Given the description of an element on the screen output the (x, y) to click on. 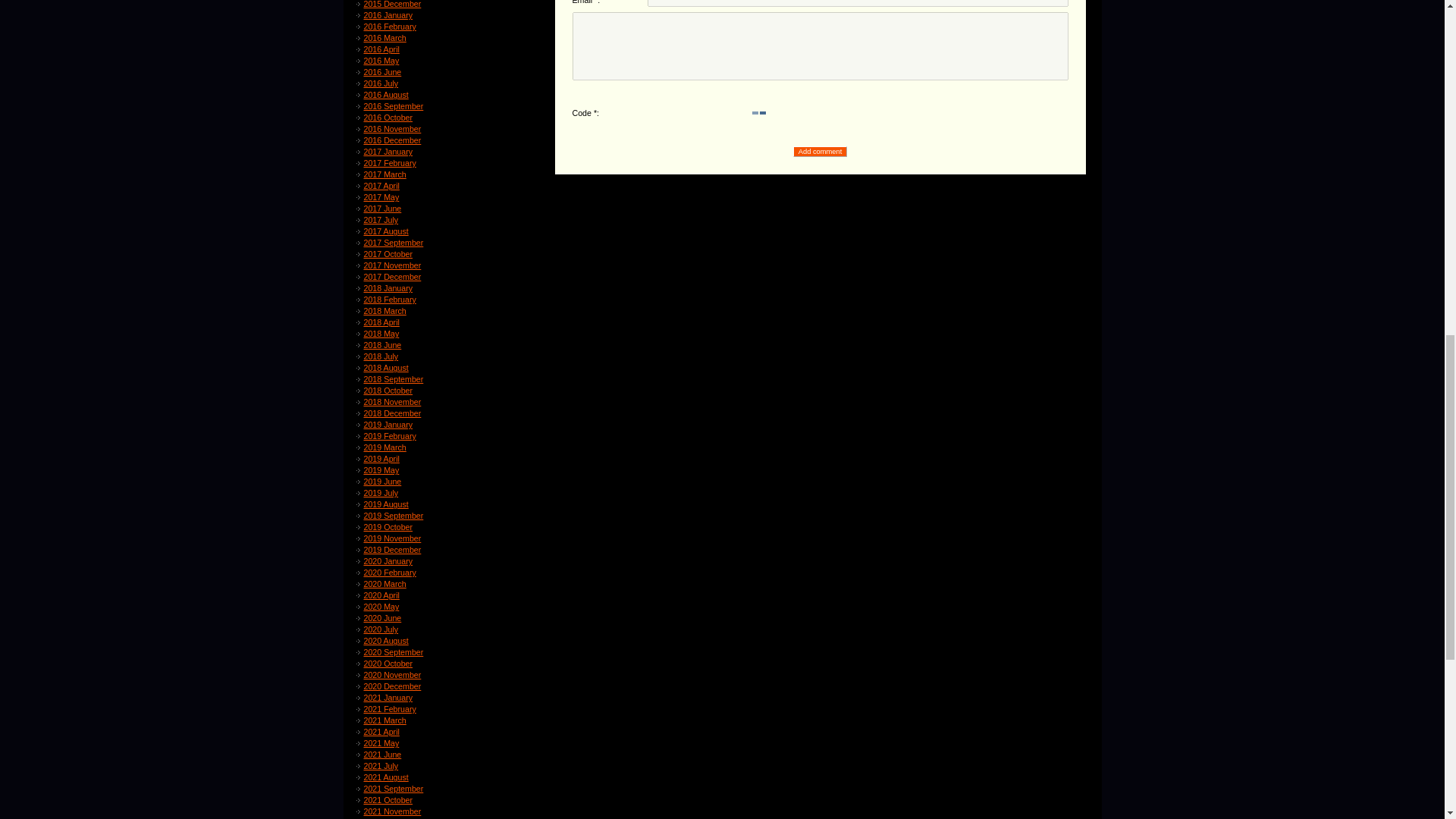
Add comment (820, 151)
